Given the description of an element on the screen output the (x, y) to click on. 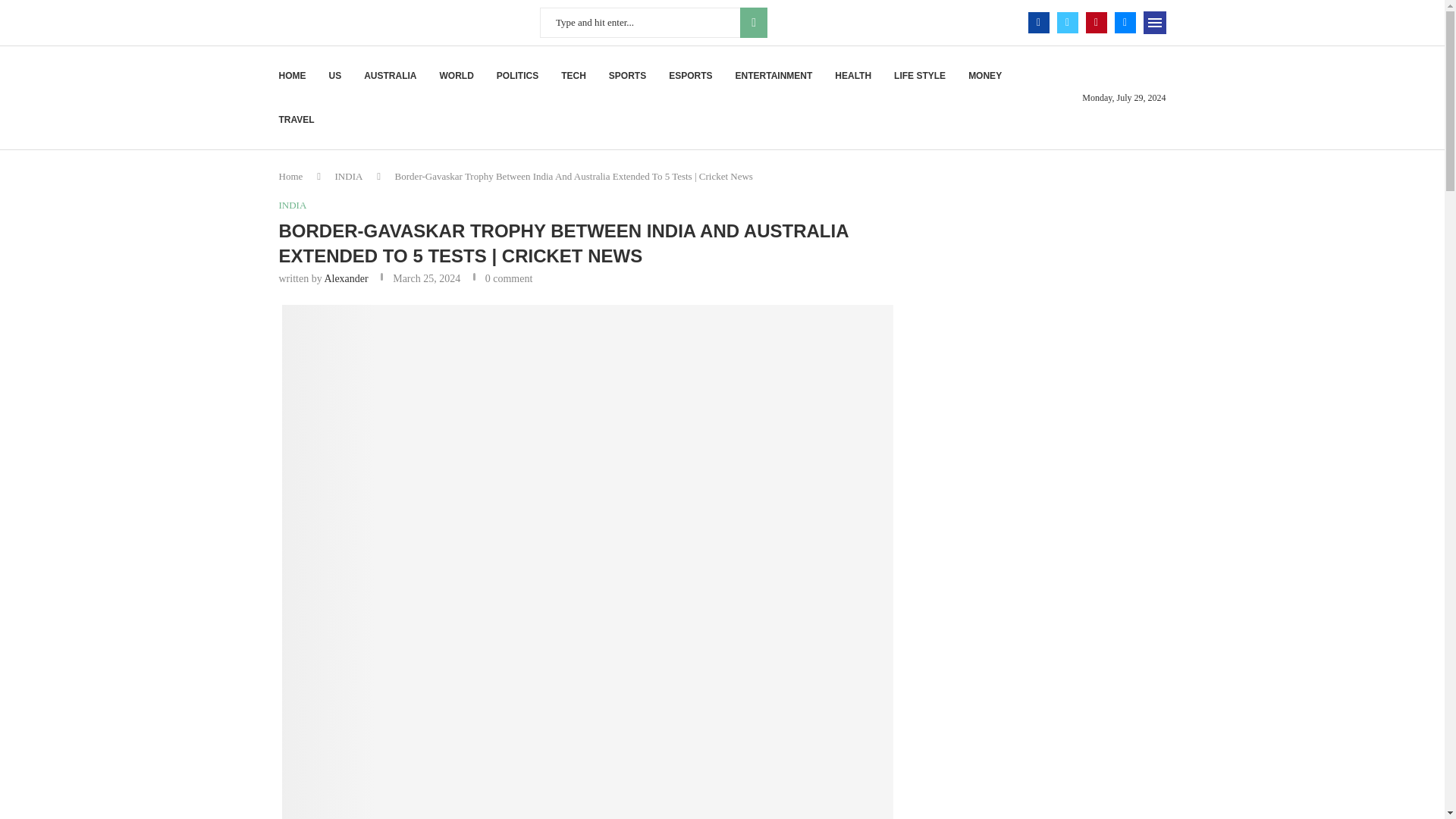
LIFE STYLE (918, 75)
ENTERTAINMENT (773, 75)
POLITICS (517, 75)
ESPORTS (689, 75)
AUSTRALIA (390, 75)
SEARCH (753, 22)
